Given the description of an element on the screen output the (x, y) to click on. 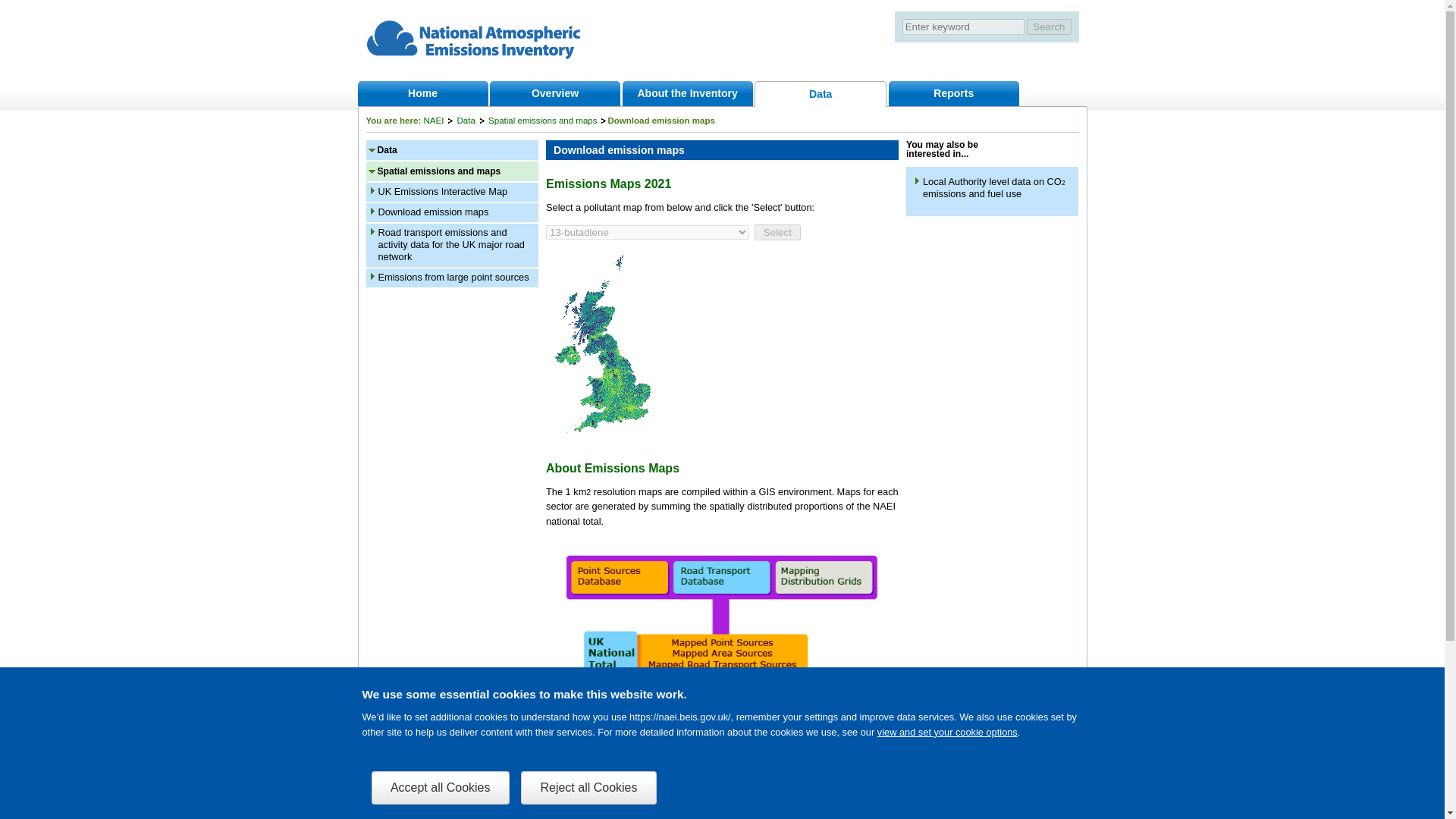
Spatial emissions and maps (546, 120)
Data (387, 149)
Download emission maps (432, 211)
view and set your cookie options (947, 731)
Accept all Cookies (440, 787)
Search (1048, 26)
Data (470, 120)
Reports (953, 92)
Search (1048, 26)
UK Emissions Interactive Map (441, 191)
